Given the description of an element on the screen output the (x, y) to click on. 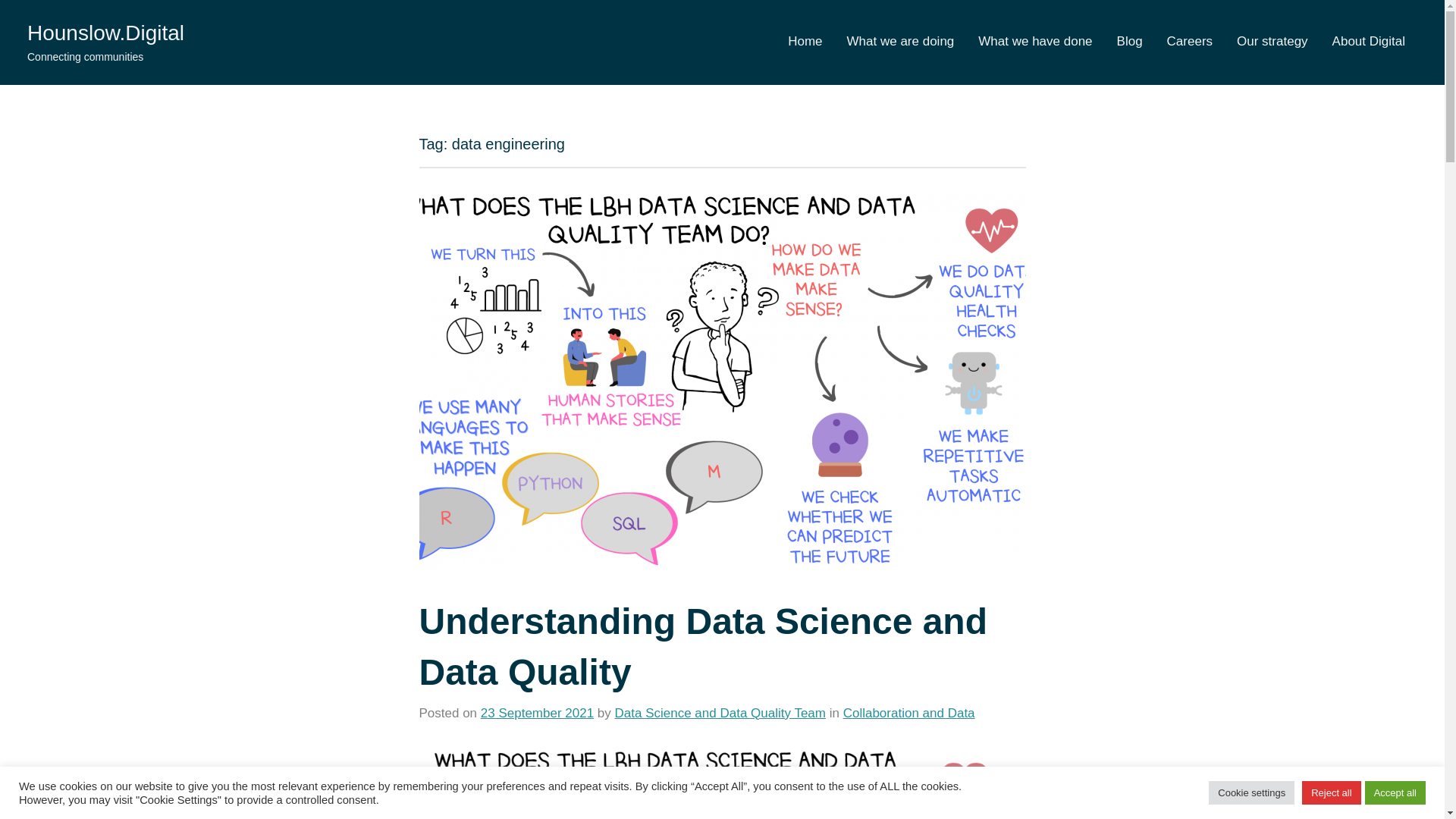
23 September 2021 (537, 712)
Cookie settings (1251, 792)
Data Science and Data Quality Team (719, 712)
Reject all (1330, 792)
View all posts by Data Science and Data Quality Team (719, 712)
Our strategy (1271, 41)
Hounslow.Digital (105, 33)
Accept all (1395, 792)
Careers (1189, 41)
About Digital (1368, 41)
What we are doing (901, 41)
What we have done (1035, 41)
Understanding Data Science and Data Quality (703, 646)
Blog (1129, 41)
Collaboration and Data (909, 712)
